Given the description of an element on the screen output the (x, y) to click on. 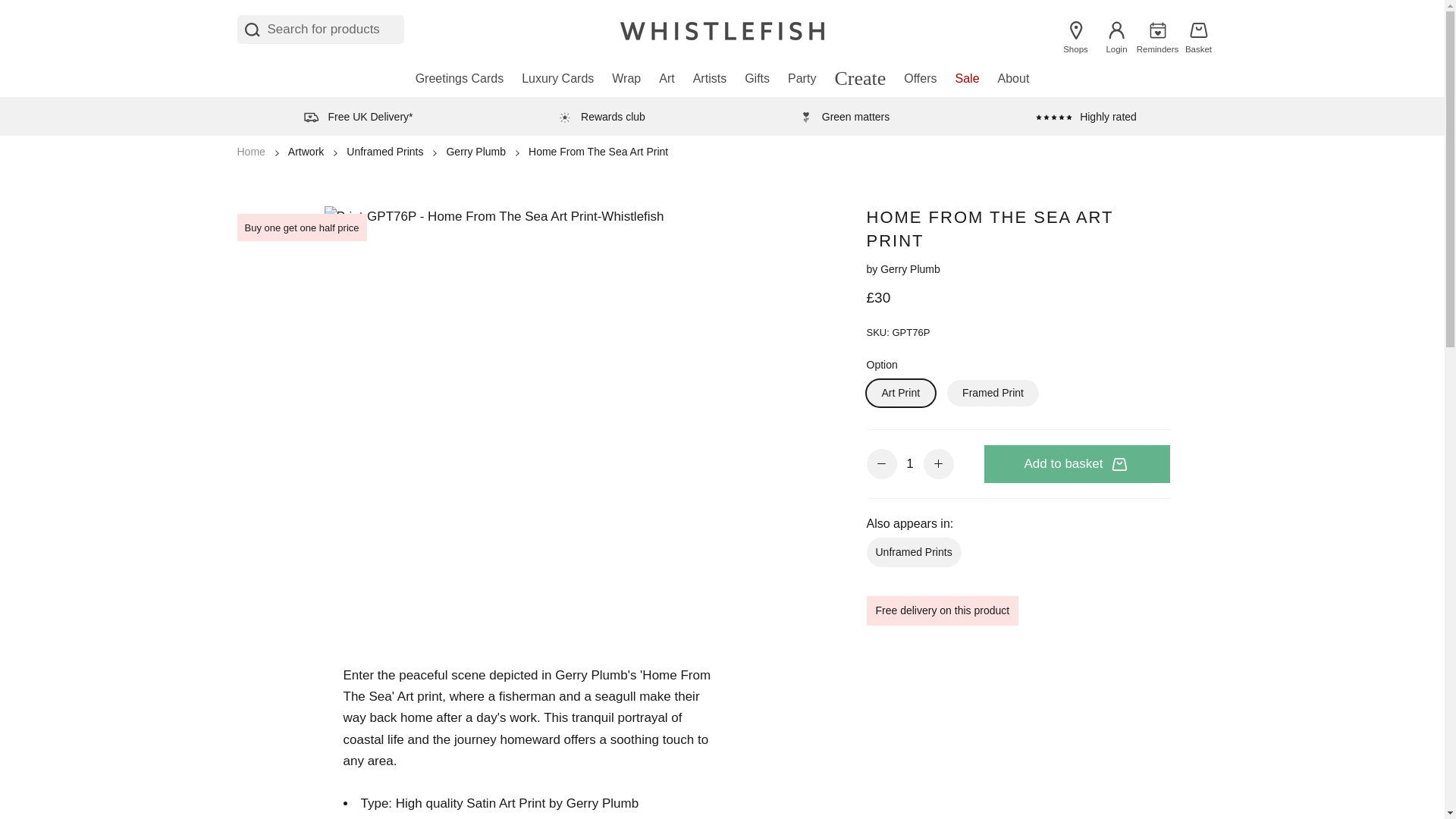
1 (909, 463)
Green matters (843, 116)
Customer reviews (1086, 116)
Whistlefish homepage (722, 29)
Delivery information (600, 116)
Delivery information (357, 116)
